Given the description of an element on the screen output the (x, y) to click on. 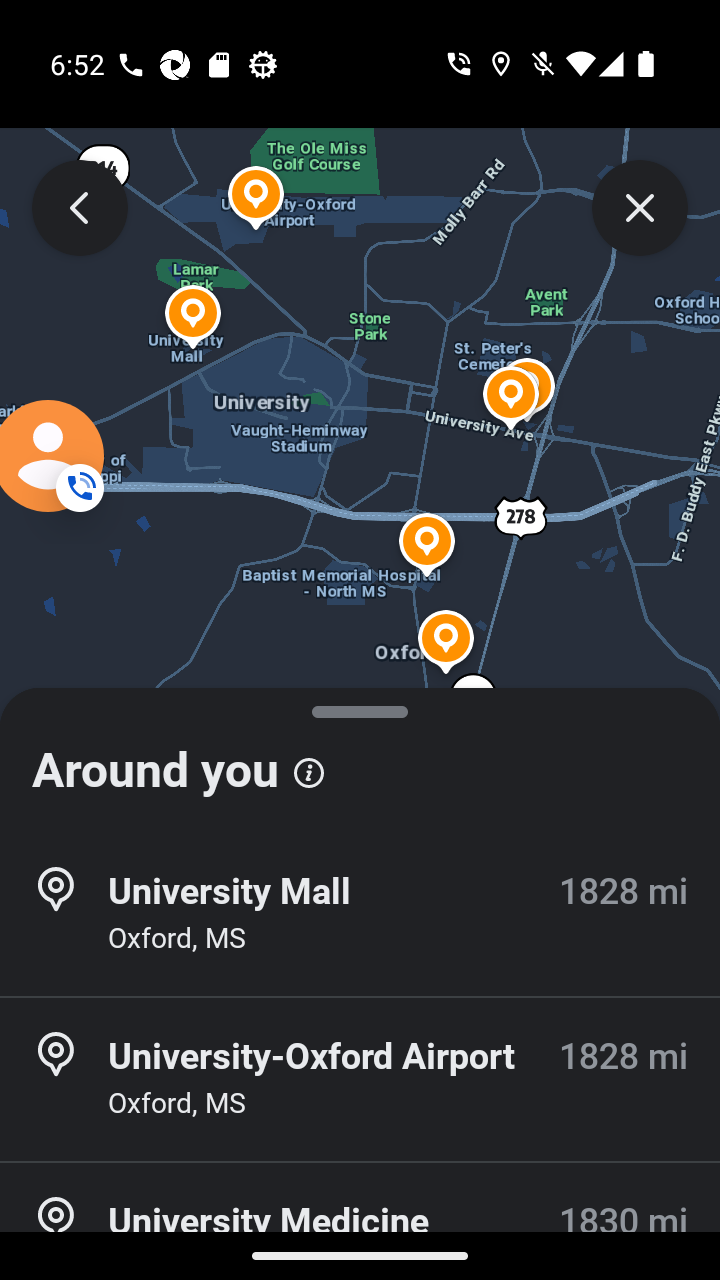
Around you (360, 760)
University Mall 1828 mi Oxford, MS (360, 914)
University-Oxford Airport 1828 mi Oxford, MS (360, 1079)
University Medicine 1830 mi Oxford, MS (360, 1221)
